Given the description of an element on the screen output the (x, y) to click on. 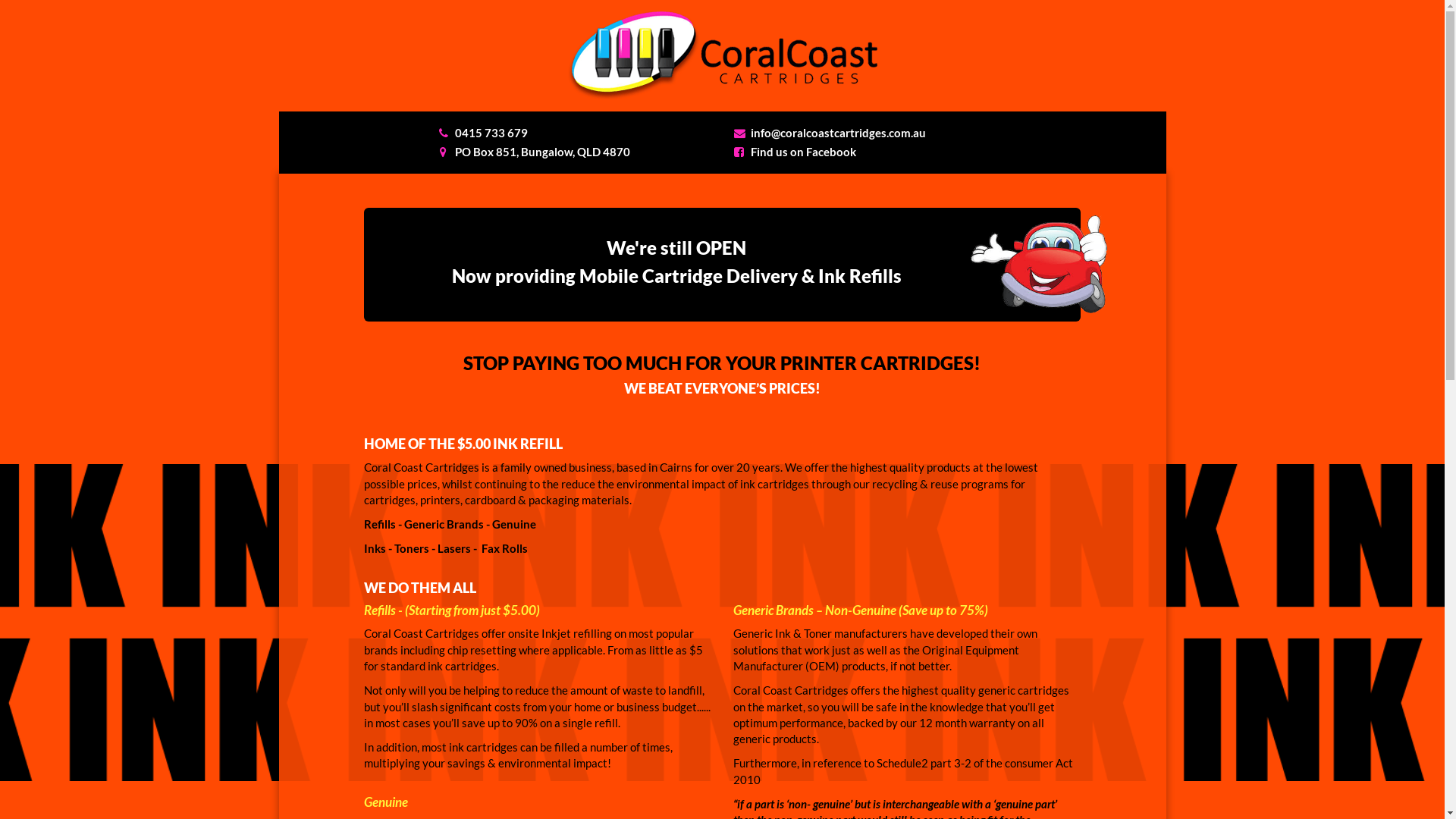
info@coralcoastcartridges.com.au Element type: text (837, 132)
0415 733 679 Element type: text (491, 132)
Find us on Facebook Element type: text (803, 151)
